Given the description of an element on the screen output the (x, y) to click on. 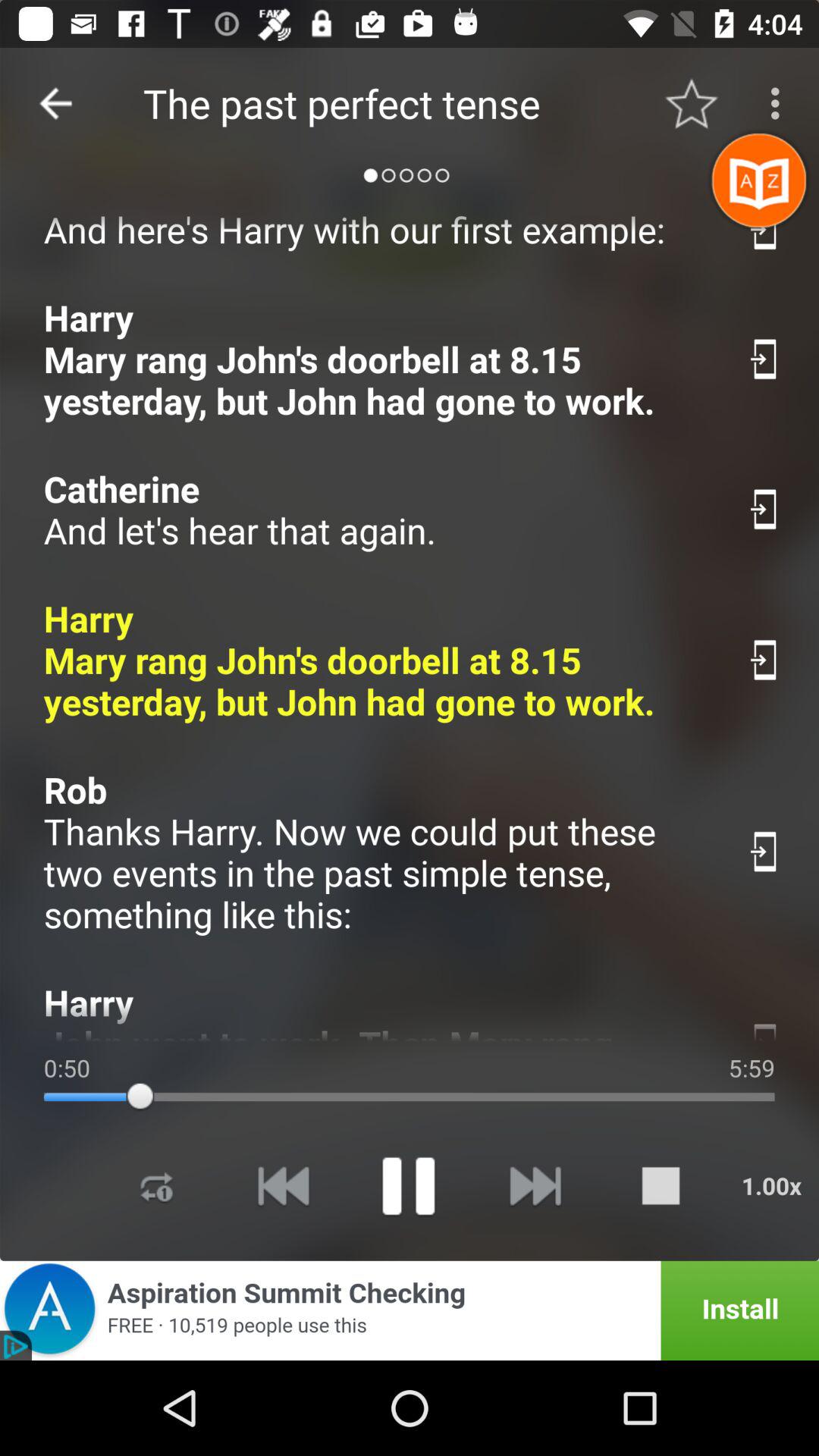
turn off the item to the left of 1.00x icon (660, 1185)
